Given the description of an element on the screen output the (x, y) to click on. 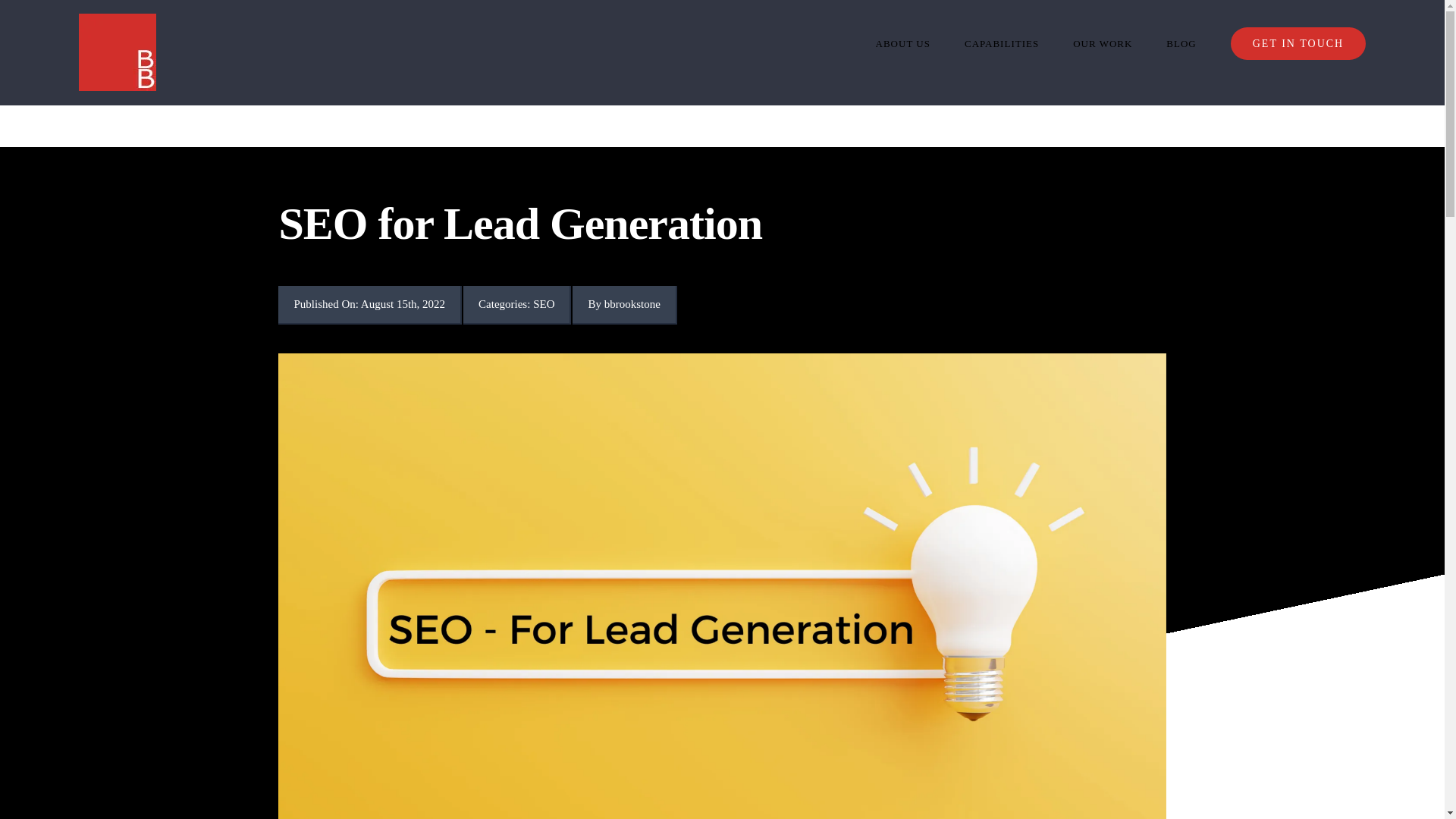
Posts by bbrookstone (632, 304)
ABOUT US (903, 42)
SEO (543, 304)
CAPABILITIES (1001, 42)
OUR WORK (1102, 42)
bbrookstone (632, 304)
BLOG (1180, 42)
GET IN TOUCH (1297, 42)
